Given the description of an element on the screen output the (x, y) to click on. 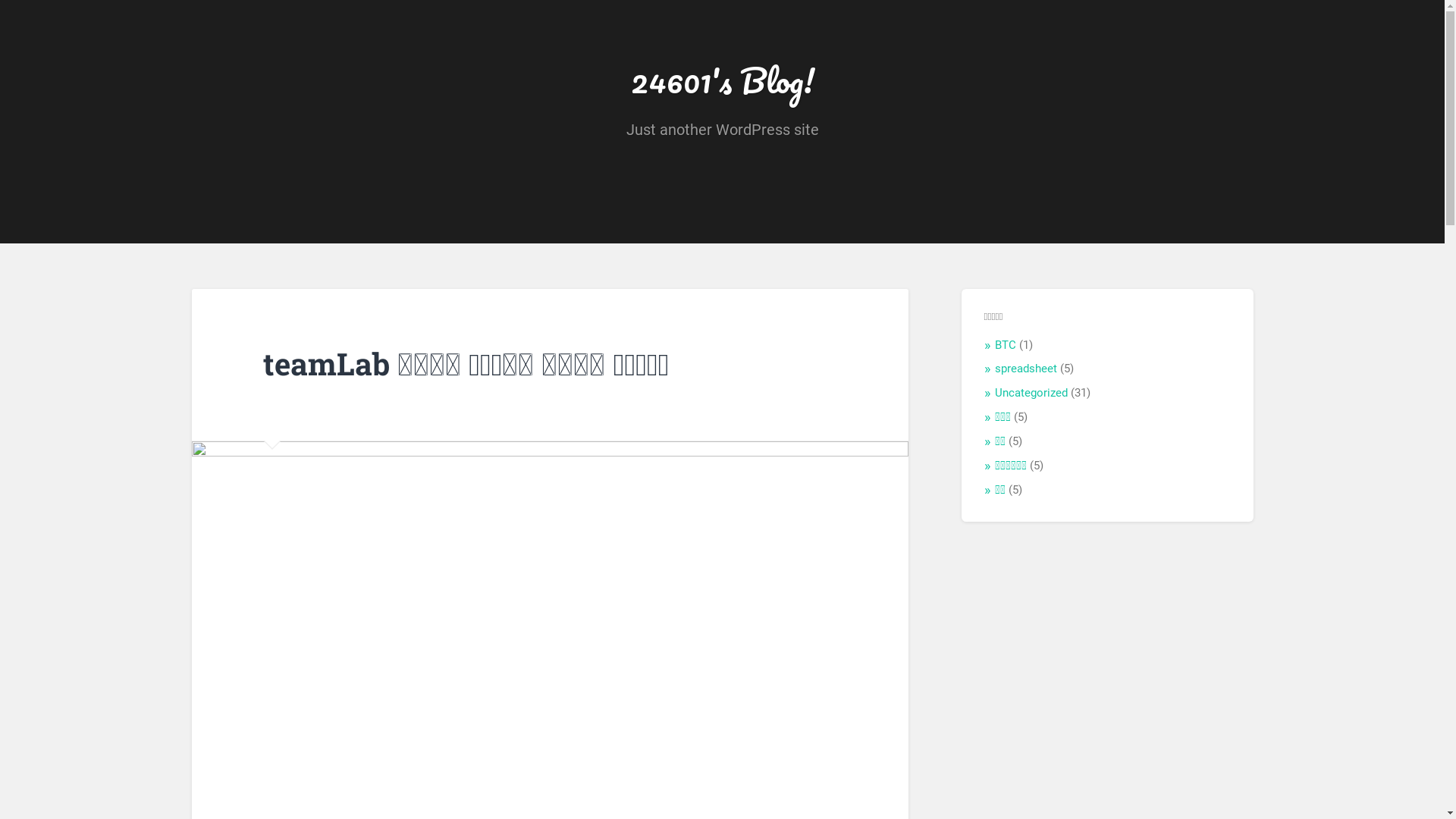
Uncategorized Element type: text (1030, 392)
24601's Blog! Element type: text (722, 79)
spreadsheet Element type: text (1025, 368)
BTC Element type: text (1005, 344)
